Given the description of an element on the screen output the (x, y) to click on. 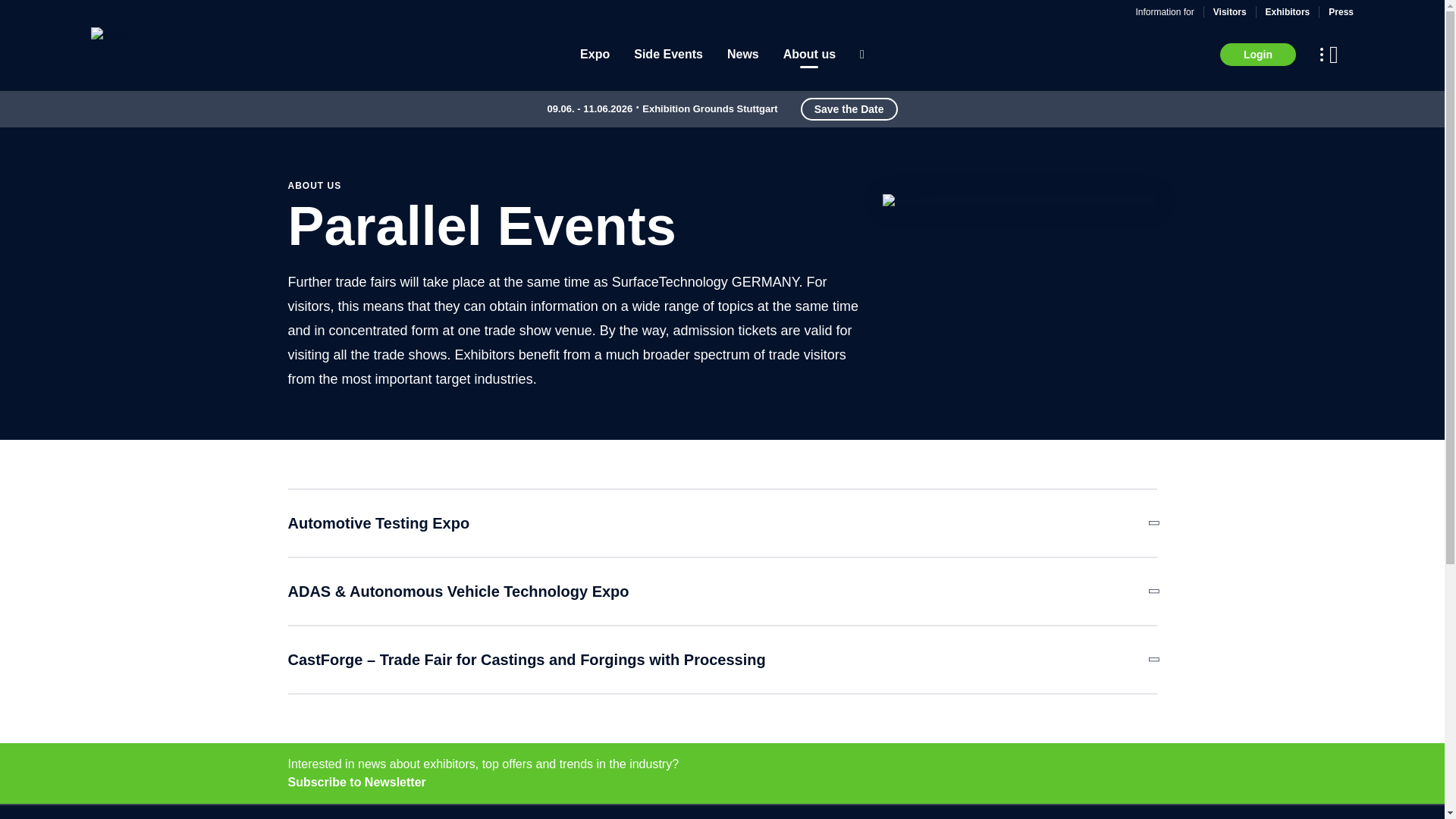
About us (809, 54)
Visitors (1229, 11)
News (742, 54)
Login (1257, 54)
Press (1340, 11)
Save the Date (849, 108)
Exhibitors (1287, 11)
Subscribe to Newsletter (722, 782)
Expo (594, 54)
